Given the description of an element on the screen output the (x, y) to click on. 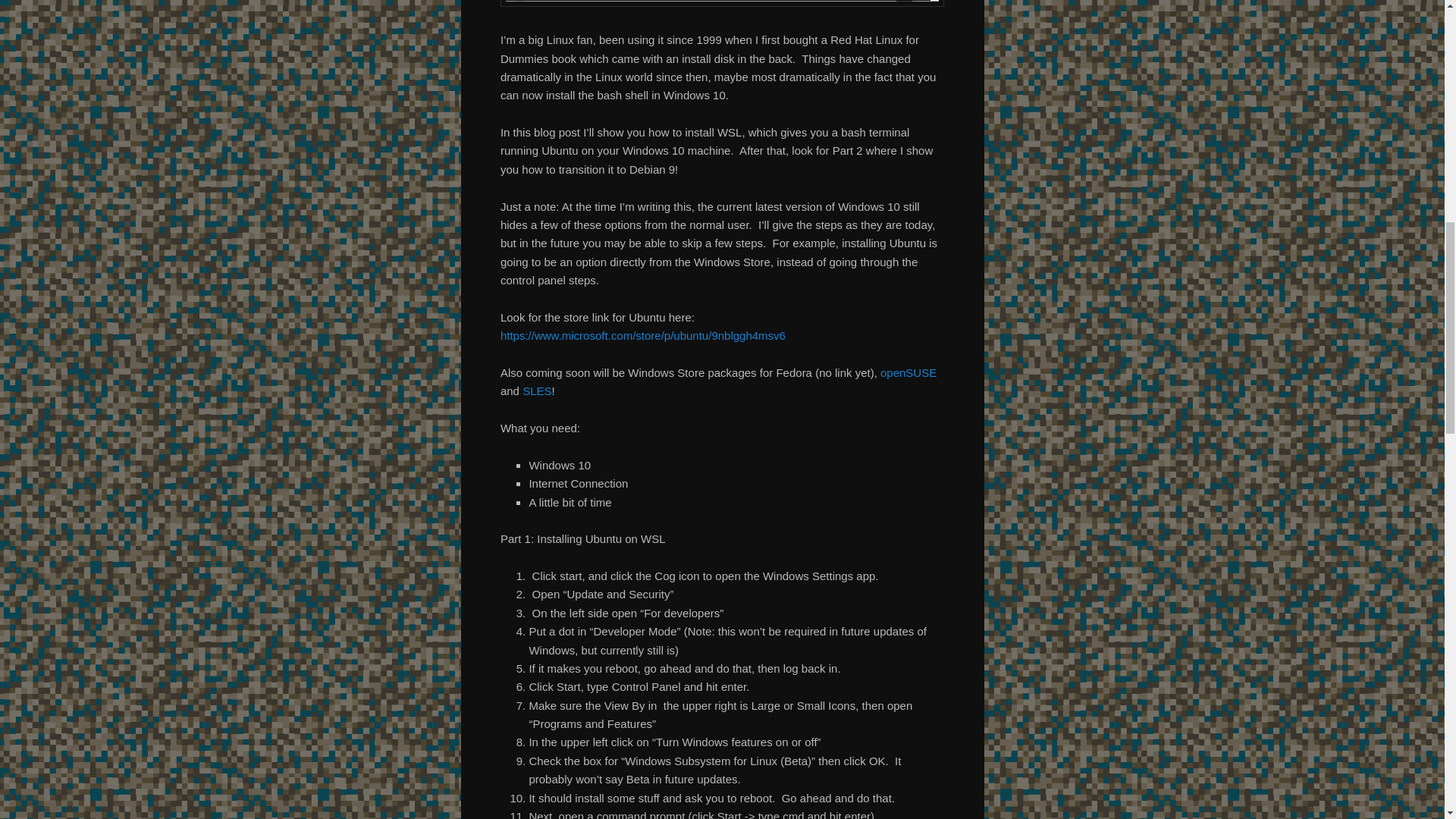
SLES (536, 390)
openSUSE (908, 372)
